Given the description of an element on the screen output the (x, y) to click on. 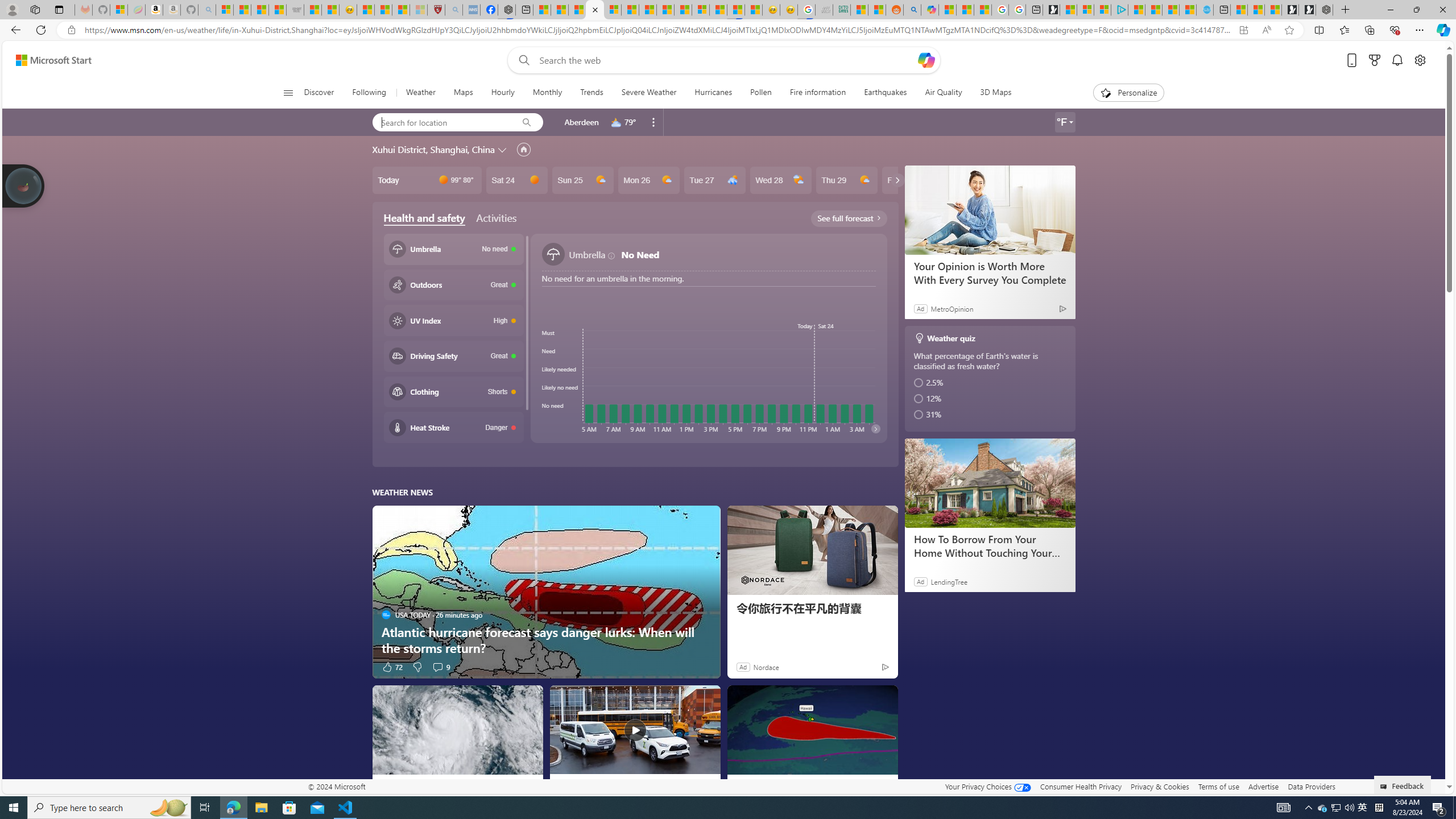
Tab actions menu (58, 9)
Sat 24 (516, 180)
Maps (462, 92)
Driving safety Great (453, 355)
Address and search bar (658, 29)
Read aloud this page (Ctrl+Shift+U) (1266, 29)
Browser essentials (1394, 29)
Earthquakes (884, 92)
USA TODAY (385, 785)
